Given the description of an element on the screen output the (x, y) to click on. 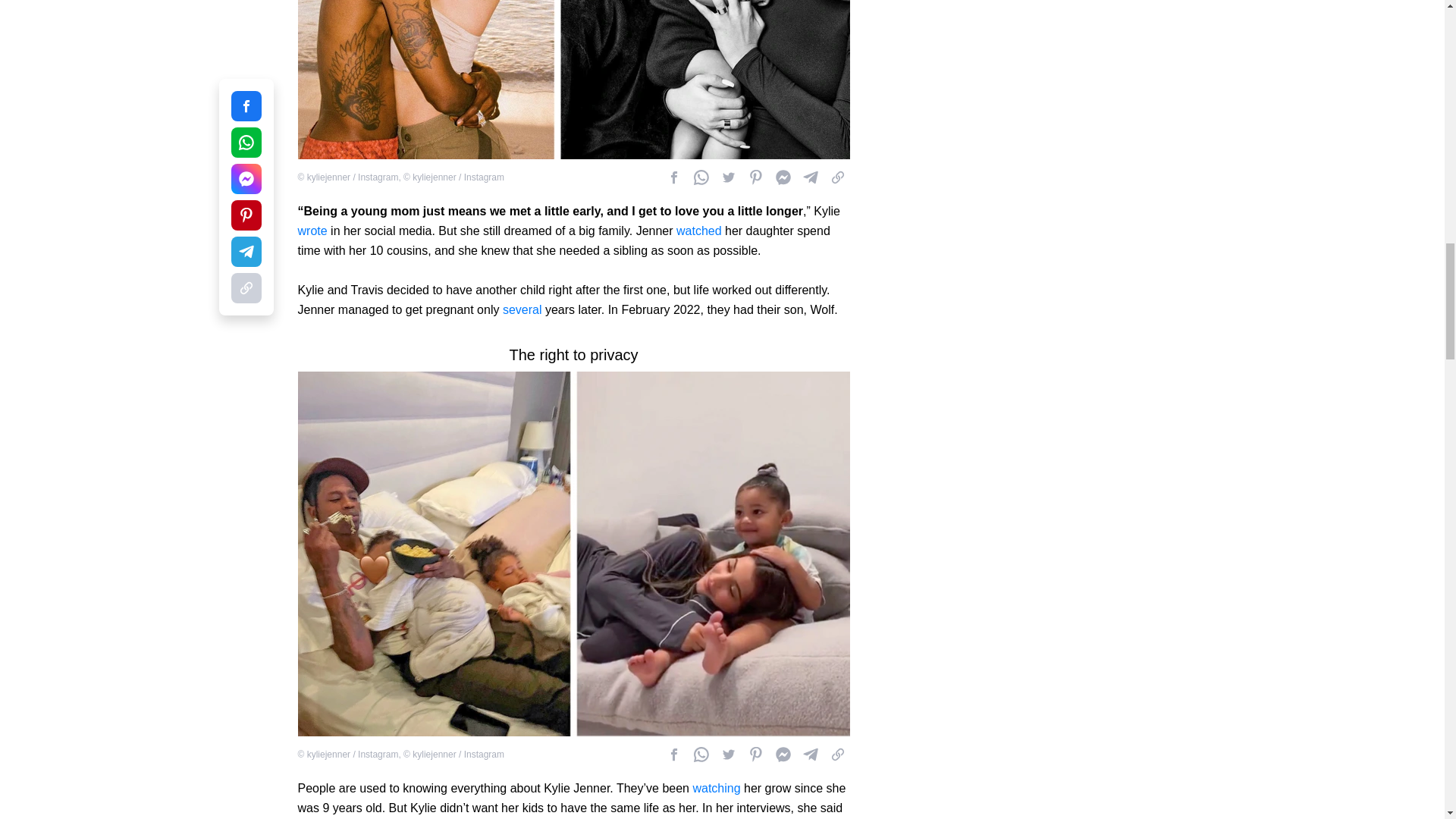
Share on Pinterest (754, 177)
Share on Facebook (673, 177)
Share on WhatsApp (700, 177)
Share on Twitter (727, 177)
Share on Facebook (782, 177)
